Given the description of an element on the screen output the (x, y) to click on. 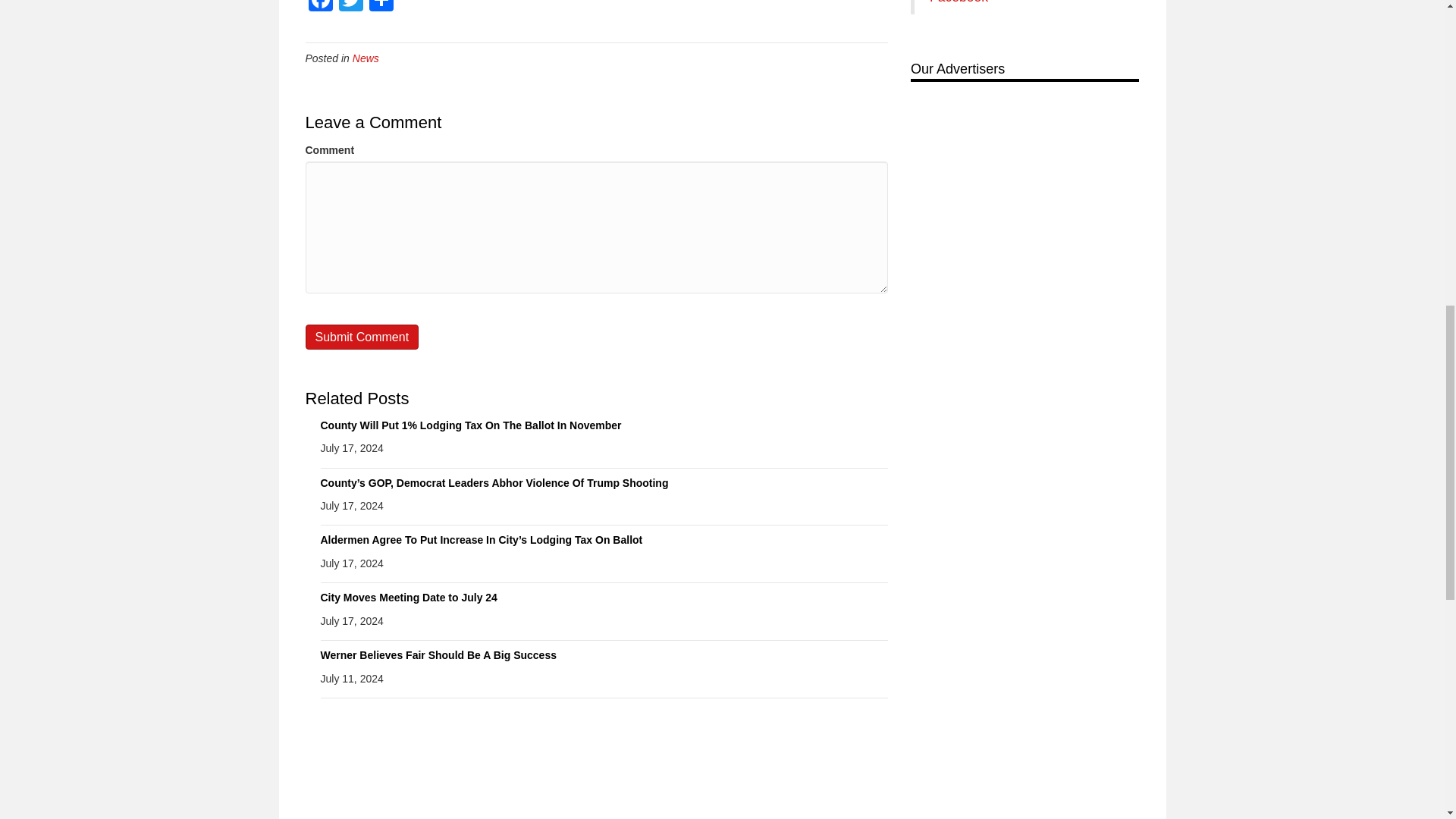
City Moves Meeting Date to July 24 (408, 597)
Submit Comment (361, 336)
Werner Believes Fair Should Be A Big Success (438, 654)
Twitter (349, 7)
Facebook (319, 7)
